Given the description of an element on the screen output the (x, y) to click on. 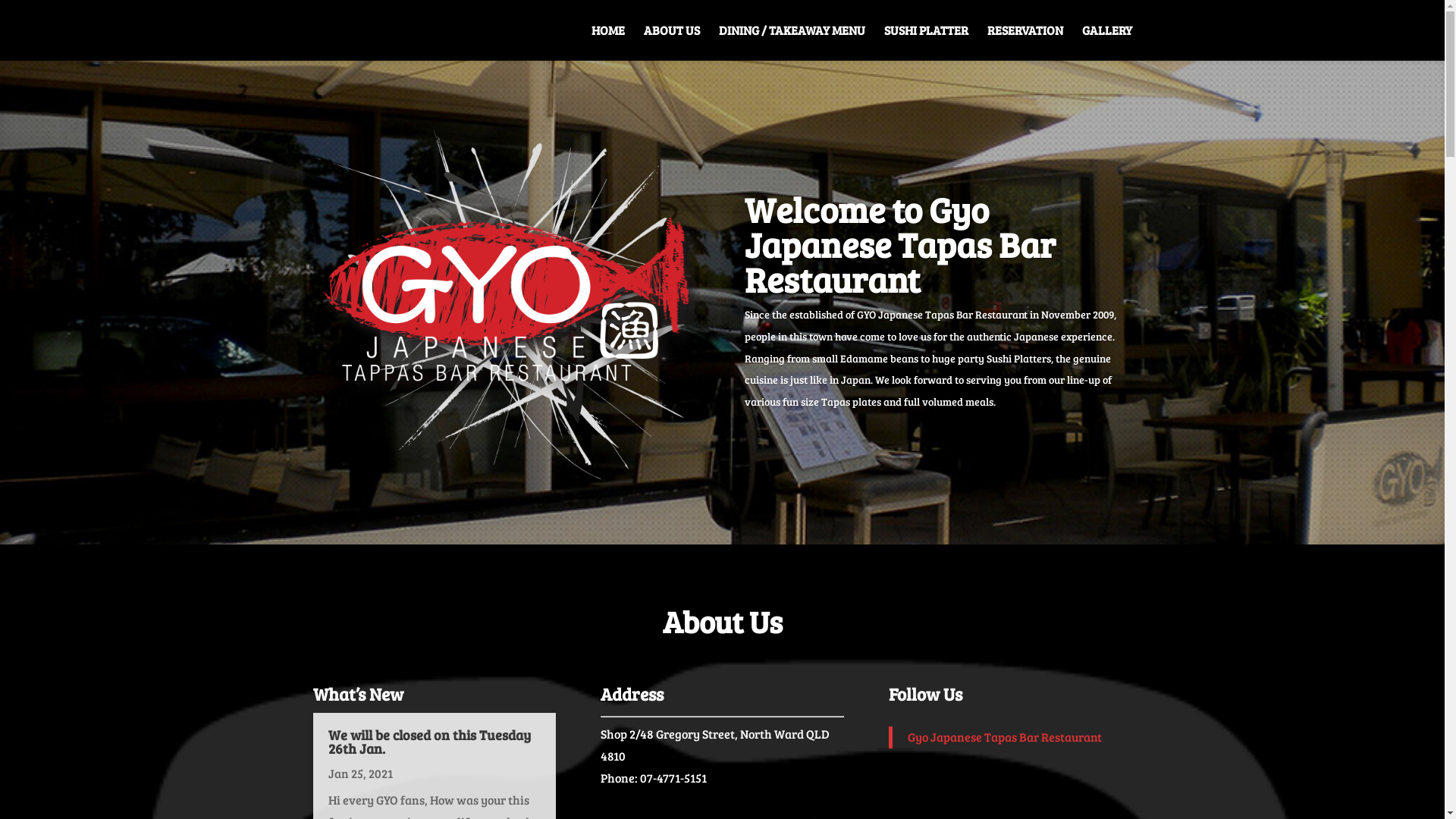
Gyo Japanese Tapas Bar Restaurant Element type: text (1004, 736)
DINING / TAKEAWAY MENU Element type: text (791, 42)
GALLERY Element type: text (1106, 42)
HOME Element type: text (607, 42)
We will be closed on this Tuesday 26th Jan. Element type: text (428, 741)
RESERVATION Element type: text (1025, 42)
ABOUT US Element type: text (671, 42)
SUSHI PLATTER Element type: text (926, 42)
